Given the description of an element on the screen output the (x, y) to click on. 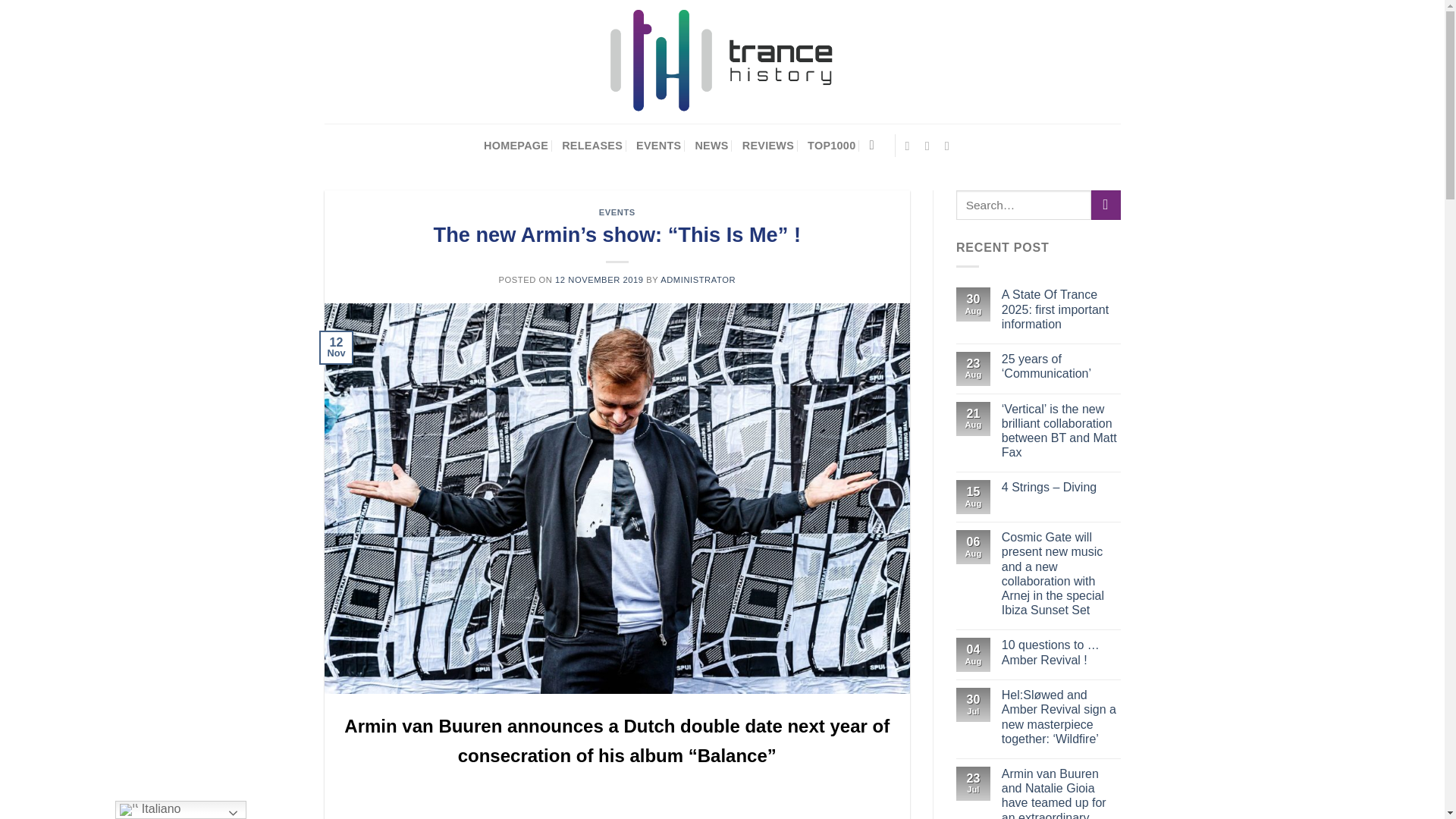
RELEASES (592, 145)
HOMEPAGE (515, 145)
TOP1000 (832, 145)
12 NOVEMBER 2019 (598, 279)
EVENTS (658, 145)
ADMINISTRATOR (698, 279)
EVENTS (616, 212)
REVIEWS (767, 145)
A State Of Trance 2025: first important information (1061, 309)
Trance History (722, 61)
